Given the description of an element on the screen output the (x, y) to click on. 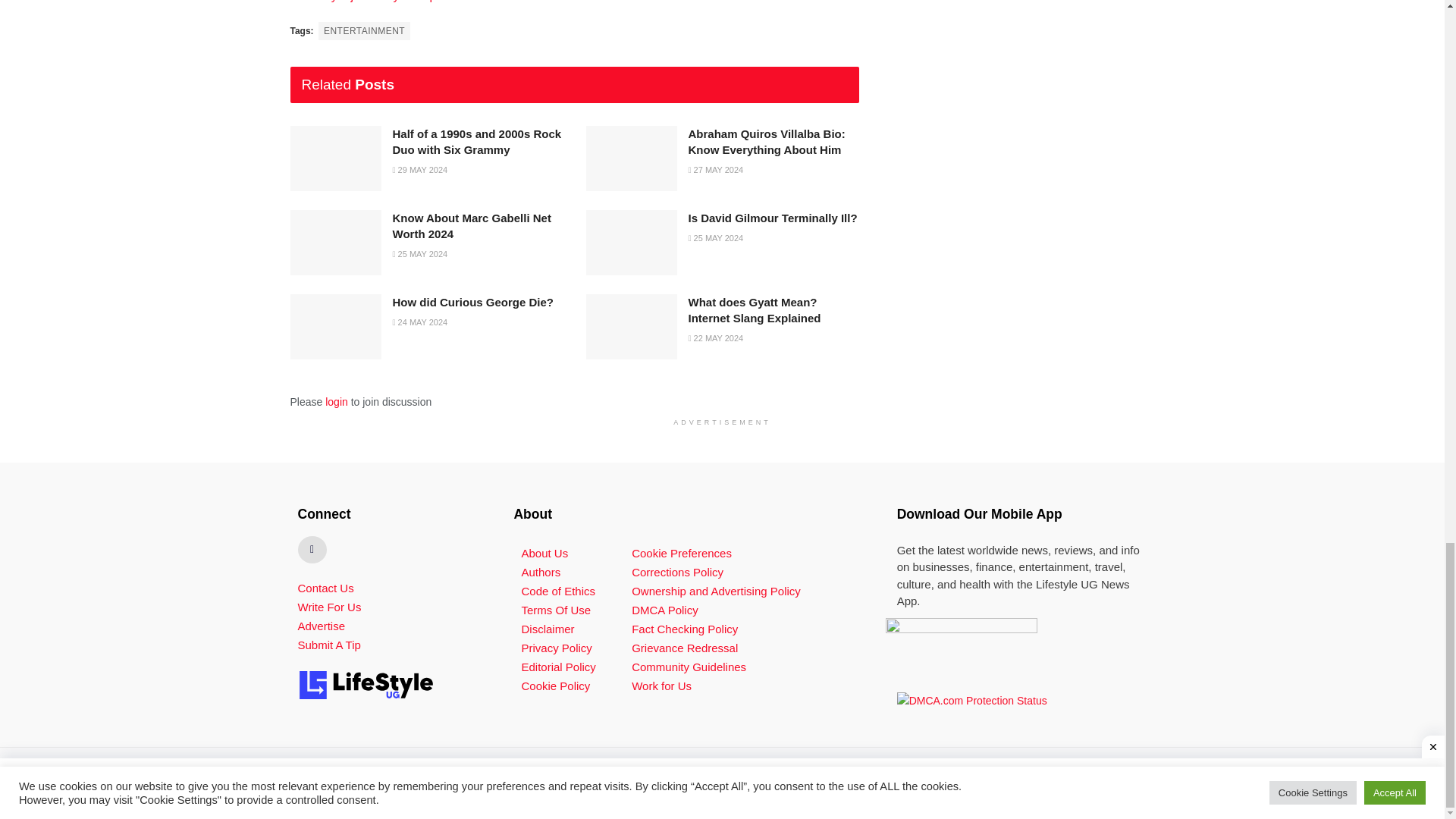
Abraham Quiros Villalba Bio: Know Everything About Him (766, 141)
ENTERTAINMENT (364, 31)
DMCA.com Protection Status (971, 699)
29 MAY 2024 (420, 169)
Half of a 1990s and 2000s Rock Duo with Six Grammy (477, 141)
27 MAY 2024 (716, 169)
